Given the description of an element on the screen output the (x, y) to click on. 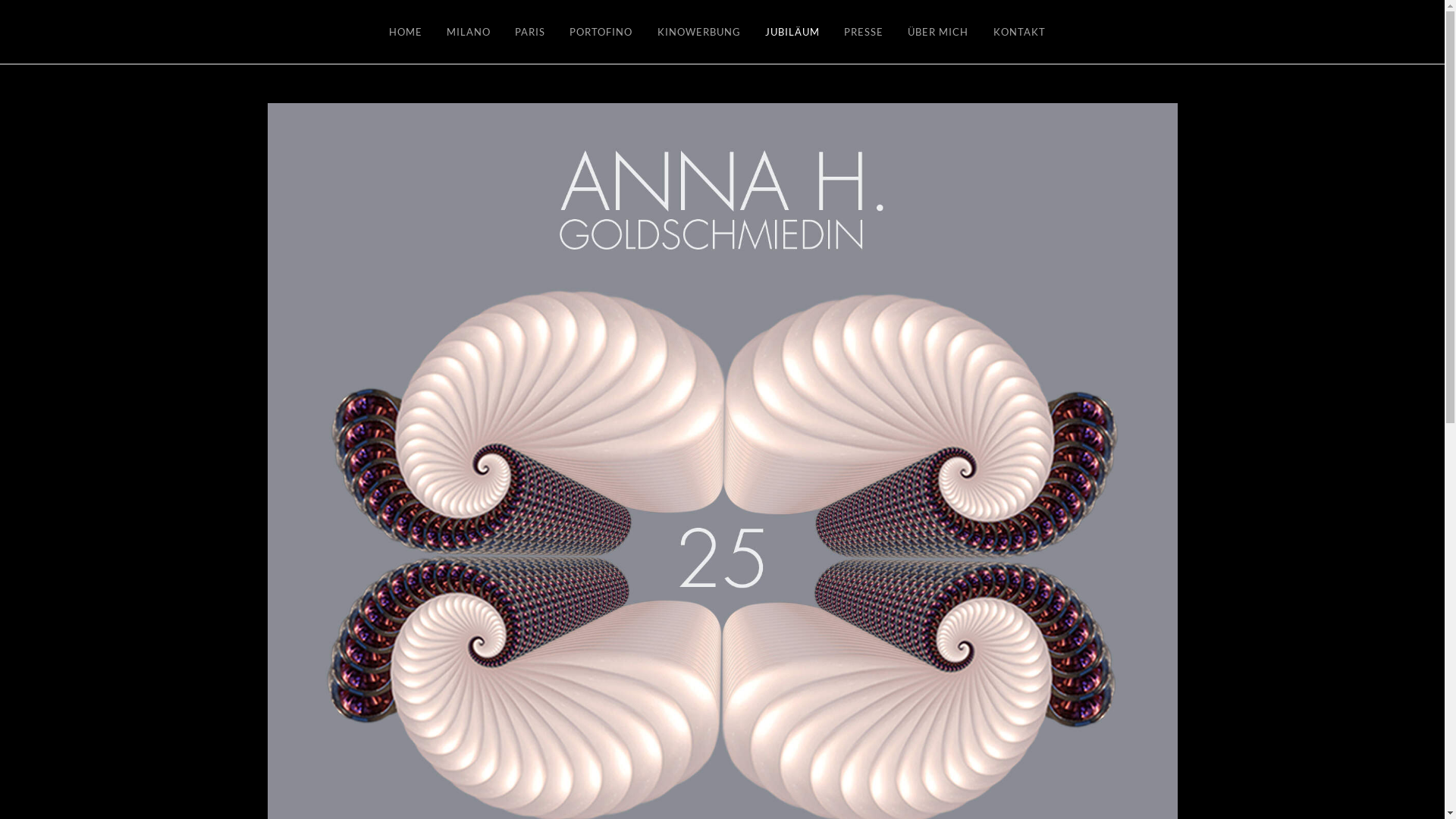
KONTAKT Element type: text (1019, 31)
MILANO Element type: text (468, 31)
PARIS Element type: text (529, 31)
HOME Element type: text (410, 31)
KINOWERBUNG Element type: text (698, 31)
PORTOFINO Element type: text (600, 31)
PRESSE Element type: text (863, 31)
